Given the description of an element on the screen output the (x, y) to click on. 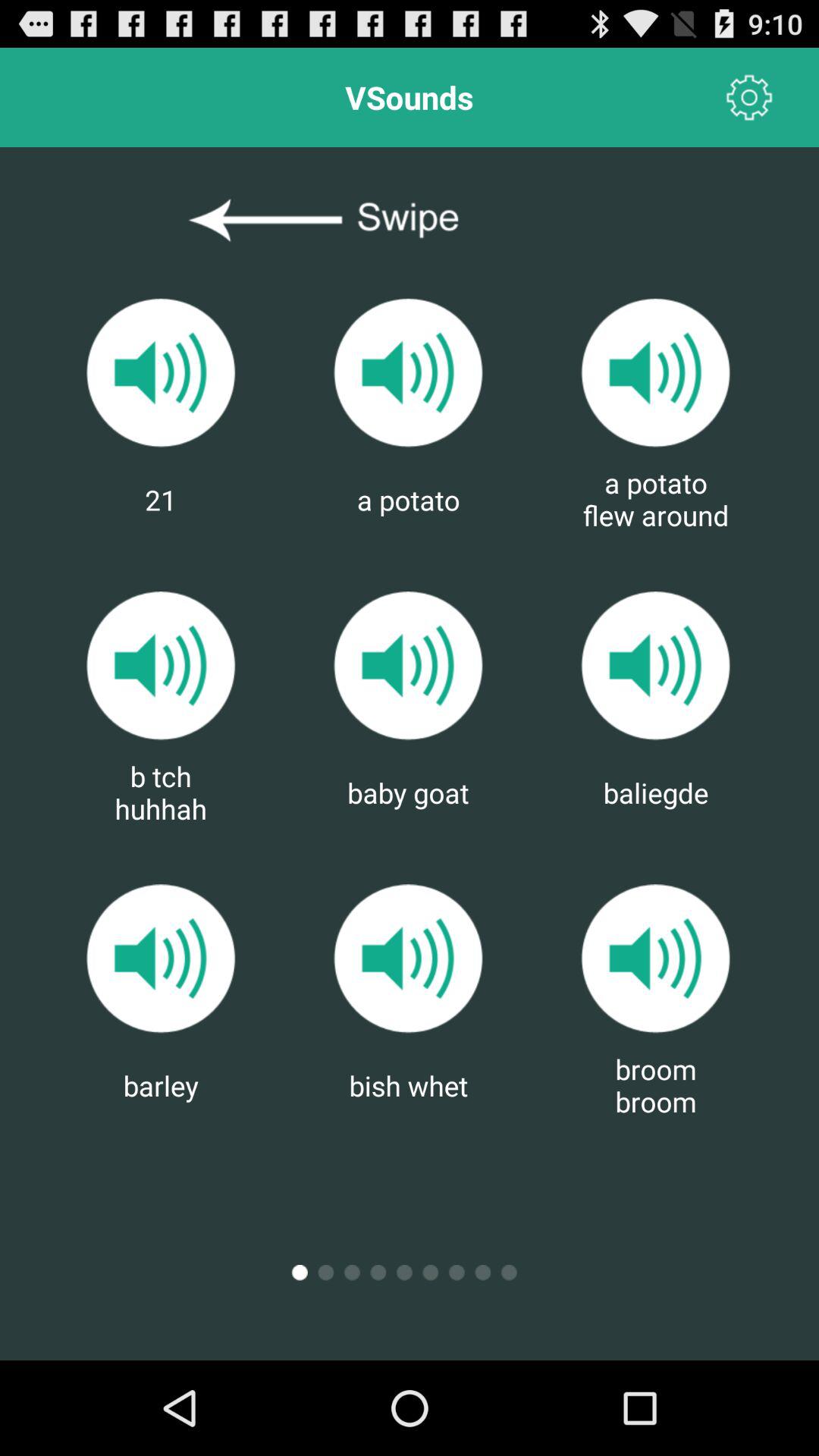
settings (749, 97)
